Given the description of an element on the screen output the (x, y) to click on. 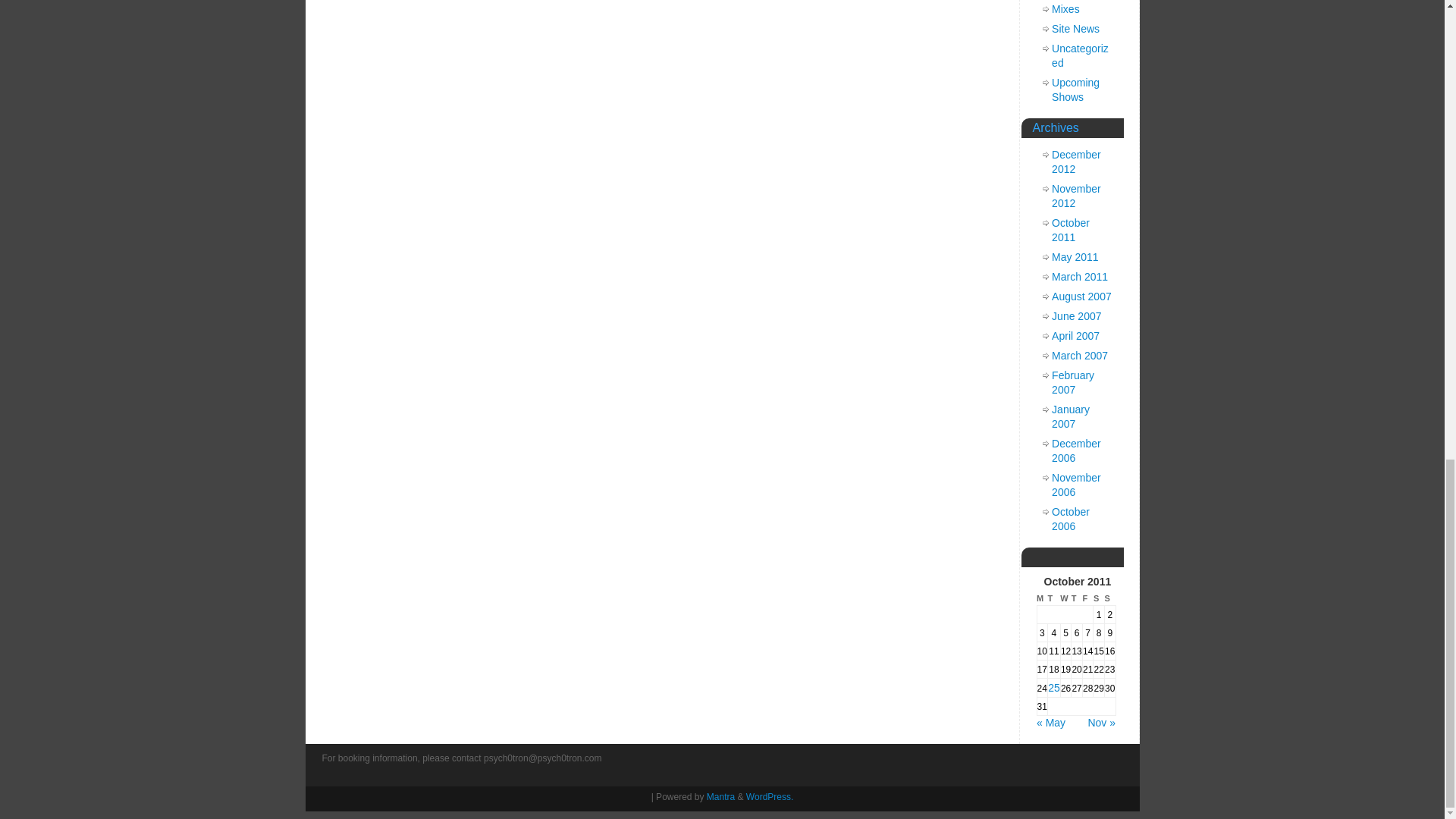
December 2012 (1075, 161)
March 2011 (1079, 276)
Upcoming Shows (1075, 89)
Site News (1075, 28)
May 2011 (1074, 256)
Mixes (1065, 9)
November 2012 (1075, 195)
Uncategorized (1079, 55)
October 2011 (1070, 230)
View all posts filed under Mixes (1065, 9)
June 2007 (1075, 316)
August 2007 (1081, 296)
